Given the description of an element on the screen output the (x, y) to click on. 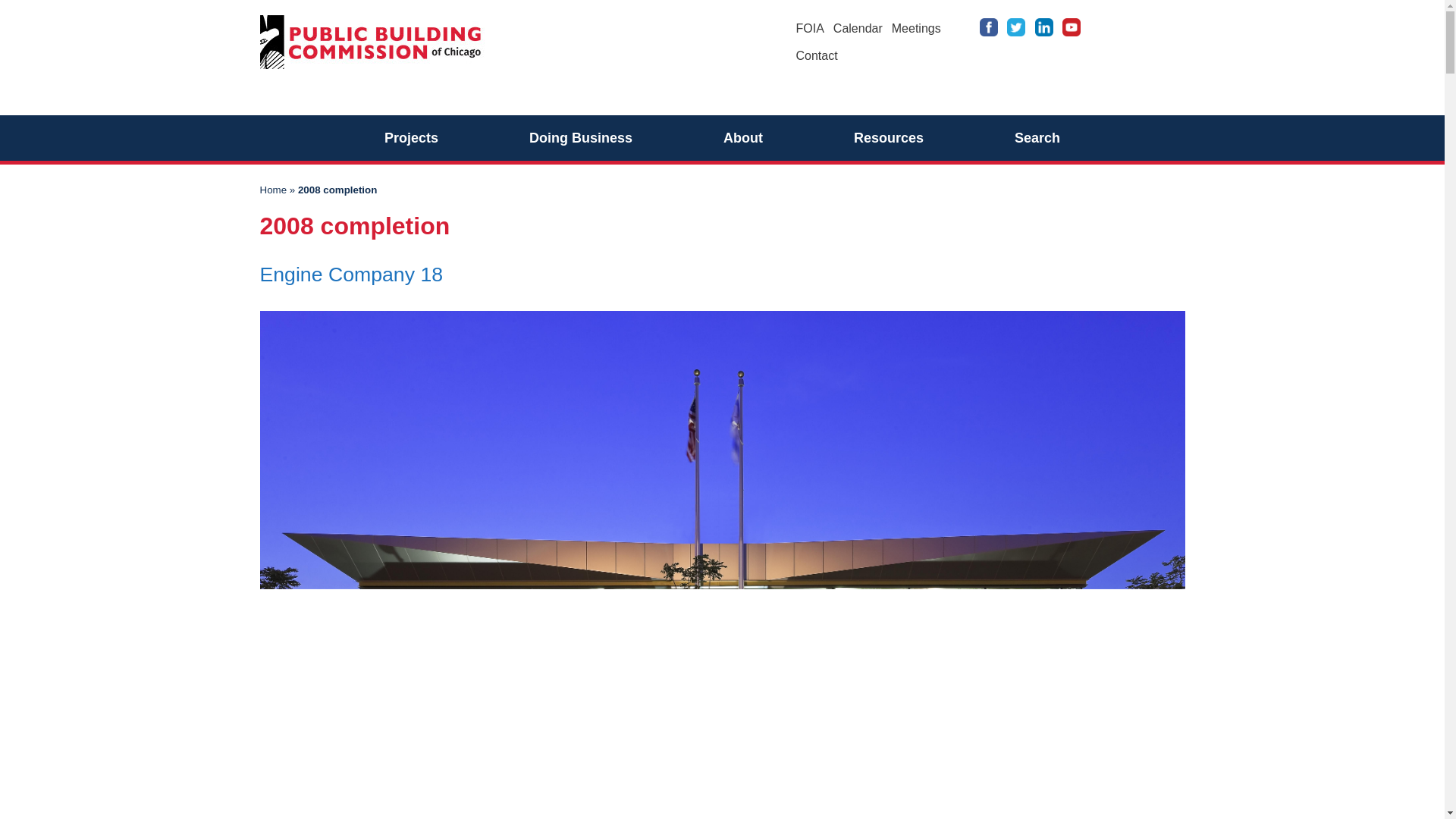
Calendar (857, 28)
FOIA (810, 28)
Meetings (915, 28)
Contact (817, 55)
Projects (411, 137)
Doing Business (580, 137)
